Given the description of an element on the screen output the (x, y) to click on. 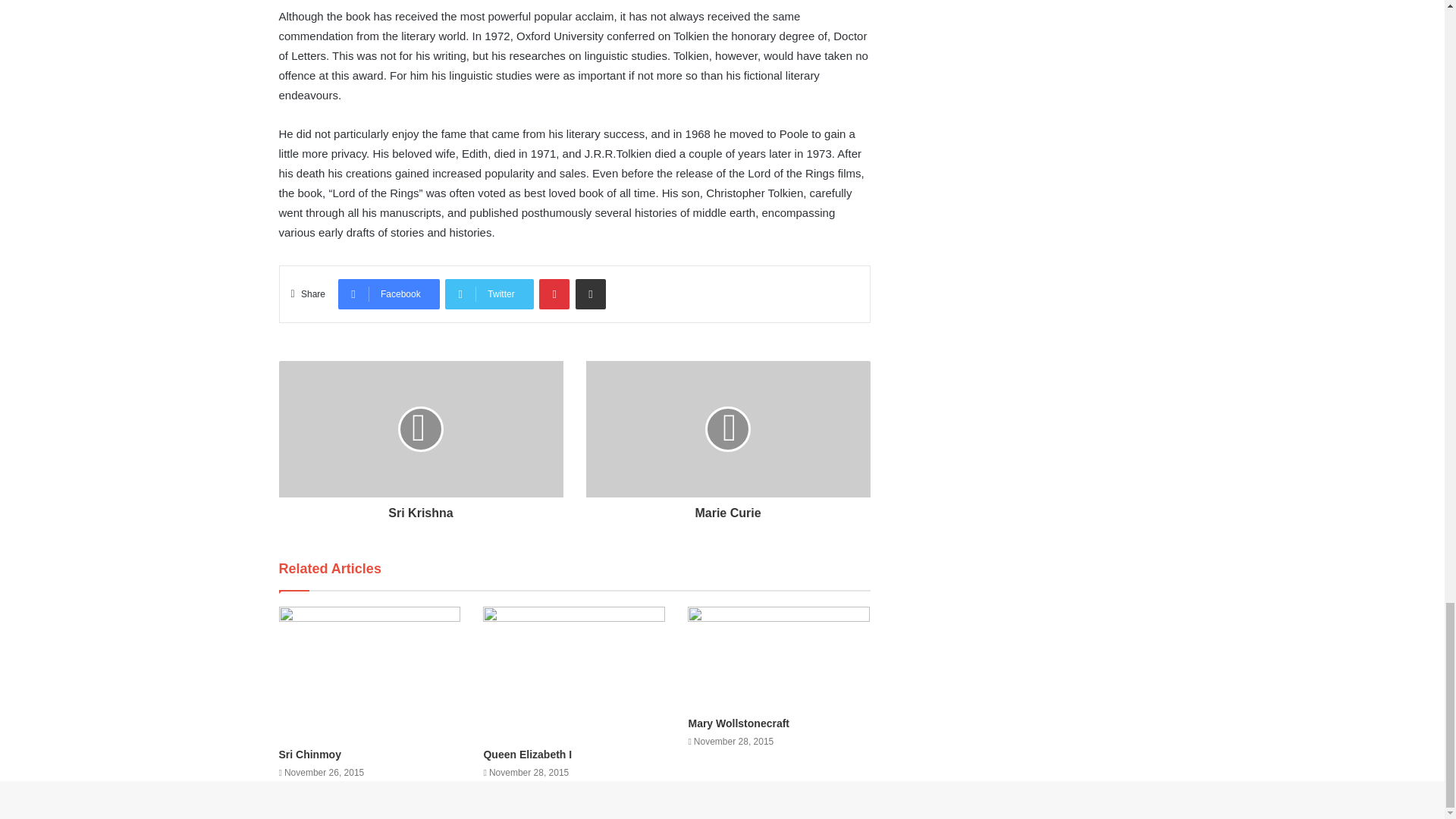
Twitter (488, 294)
Sri Krishna (421, 509)
Marie Curie (727, 509)
Pinterest (553, 294)
Sri Chinmoy (309, 754)
Queen Elizabeth I (527, 754)
Twitter (488, 294)
Facebook (388, 294)
Pinterest (553, 294)
Share via Email (590, 294)
